Given the description of an element on the screen output the (x, y) to click on. 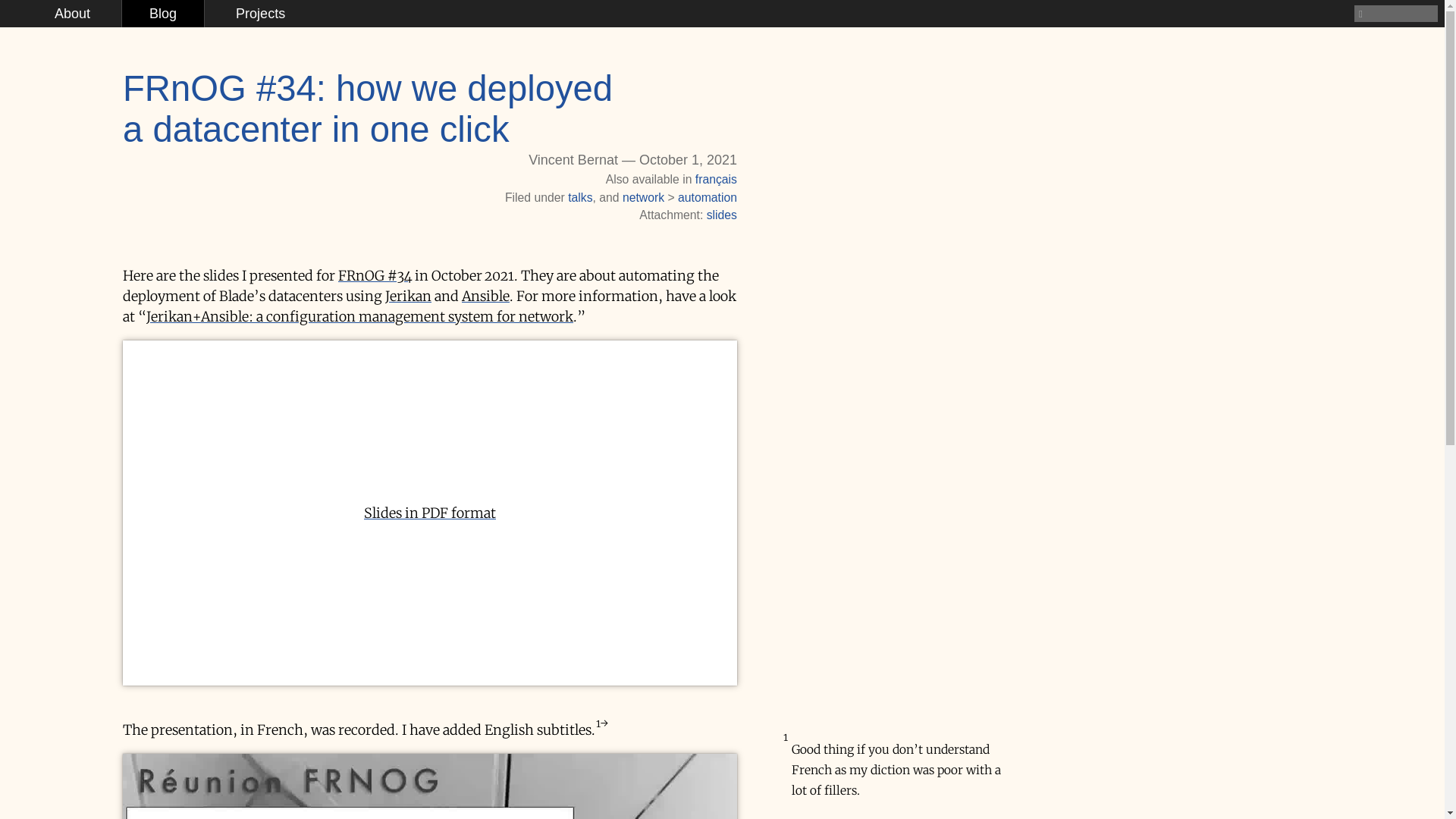
Jerikan Element type: text (408, 295)
Blog Element type: text (162, 13)
FRnOG #34 Element type: text (374, 275)
slides Element type: text (721, 214)
talks Element type: text (579, 197)
network Element type: text (643, 197)
Slides in PDF format Element type: text (429, 512)
1 Element type: text (602, 723)
Projects Element type: text (260, 13)
Ansible Element type: text (485, 295)
automation Element type: text (707, 197)
About Element type: text (72, 13)
